Given the description of an element on the screen output the (x, y) to click on. 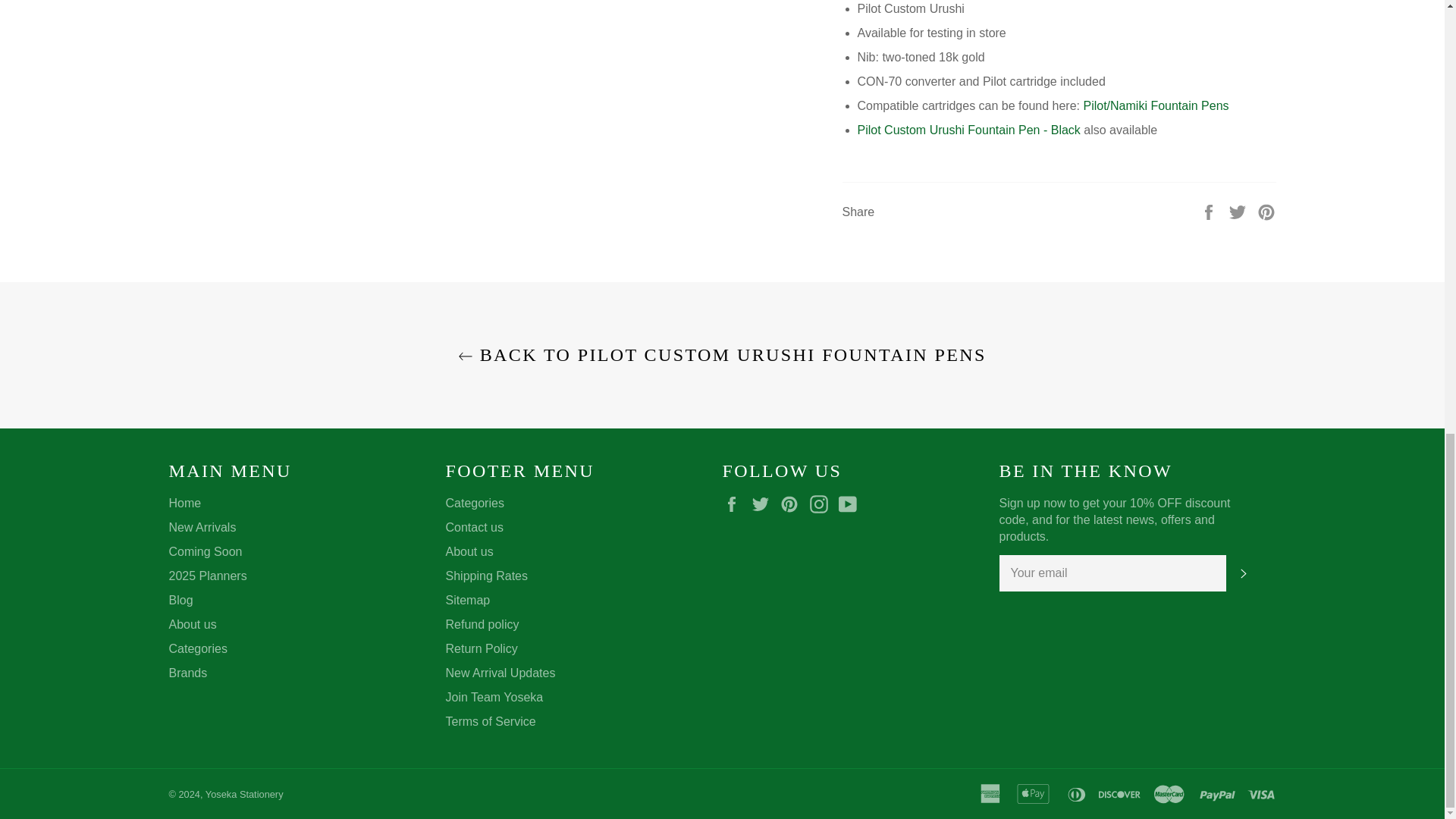
Yoseka Stationery on Pinterest (793, 504)
Yoseka Stationery on YouTube (851, 504)
Yoseka Stationery on Facebook (735, 504)
Share on Facebook (1210, 210)
Yoseka Stationery on Instagram (822, 504)
Pin on Pinterest (1266, 210)
Yoseka Stationery on Twitter (764, 504)
Tweet on Twitter (1238, 210)
